Given the description of an element on the screen output the (x, y) to click on. 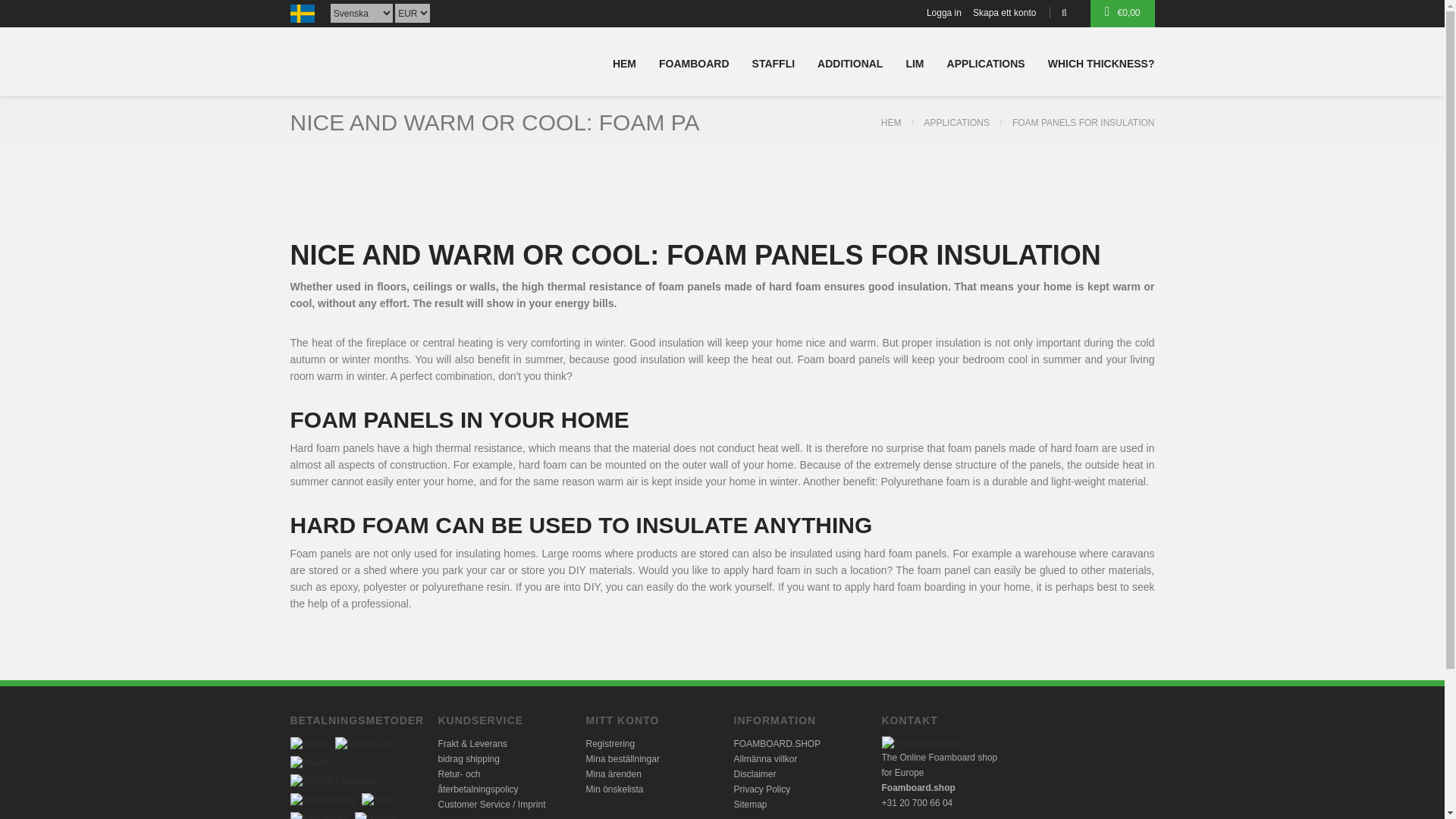
Mitt konto (1004, 13)
Hem (890, 122)
Logga in (943, 13)
FOAM PANELS FOR INSULATION (1082, 122)
ADDITIONAL (849, 68)
STAFFLI (773, 68)
APPLICATIONS (955, 122)
Betalningsmetoder (331, 780)
Betalningsmetoder (311, 762)
APPLICATIONS (986, 68)
